Given the description of an element on the screen output the (x, y) to click on. 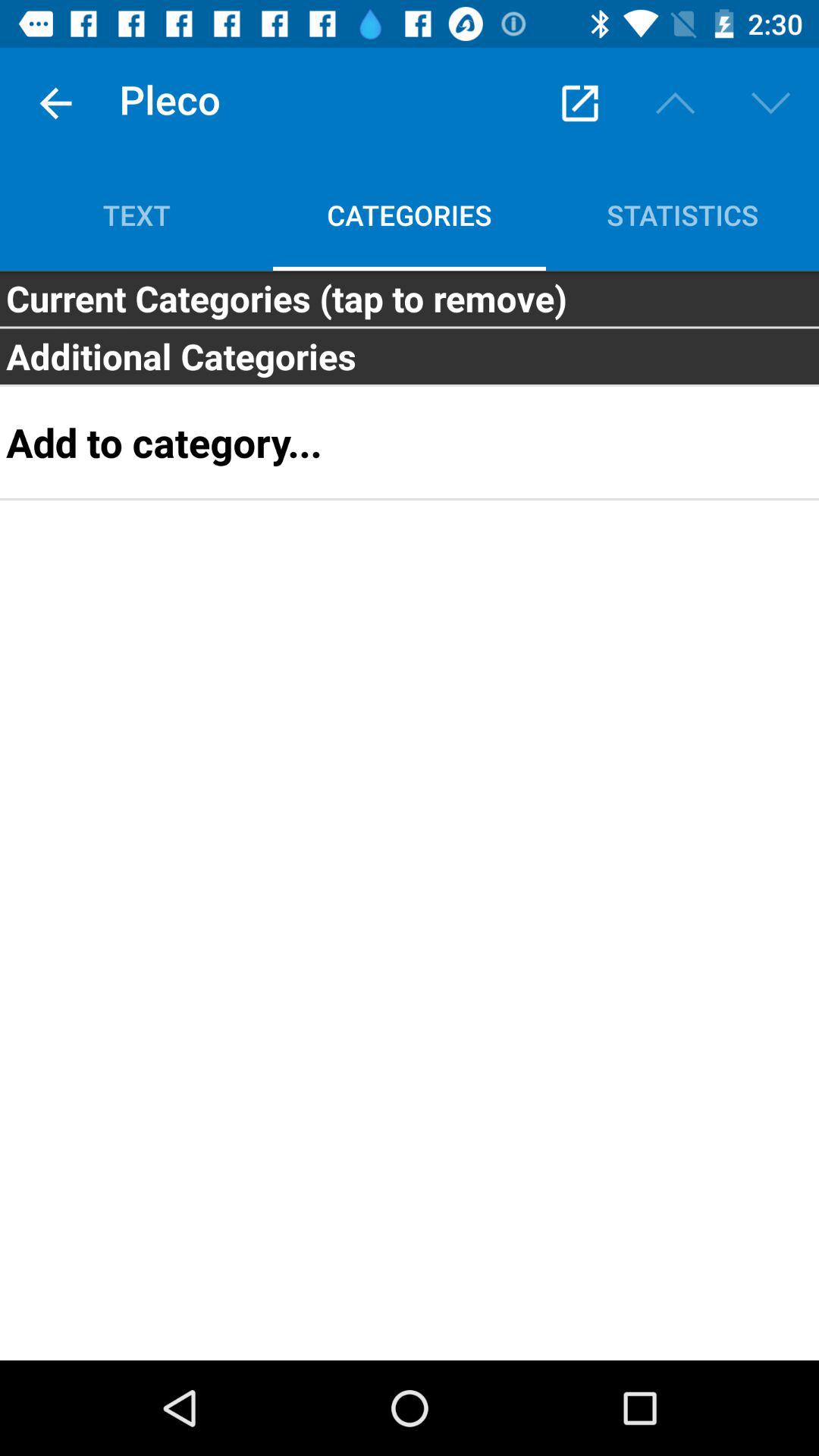
swipe until the additional categories item (409, 356)
